Given the description of an element on the screen output the (x, y) to click on. 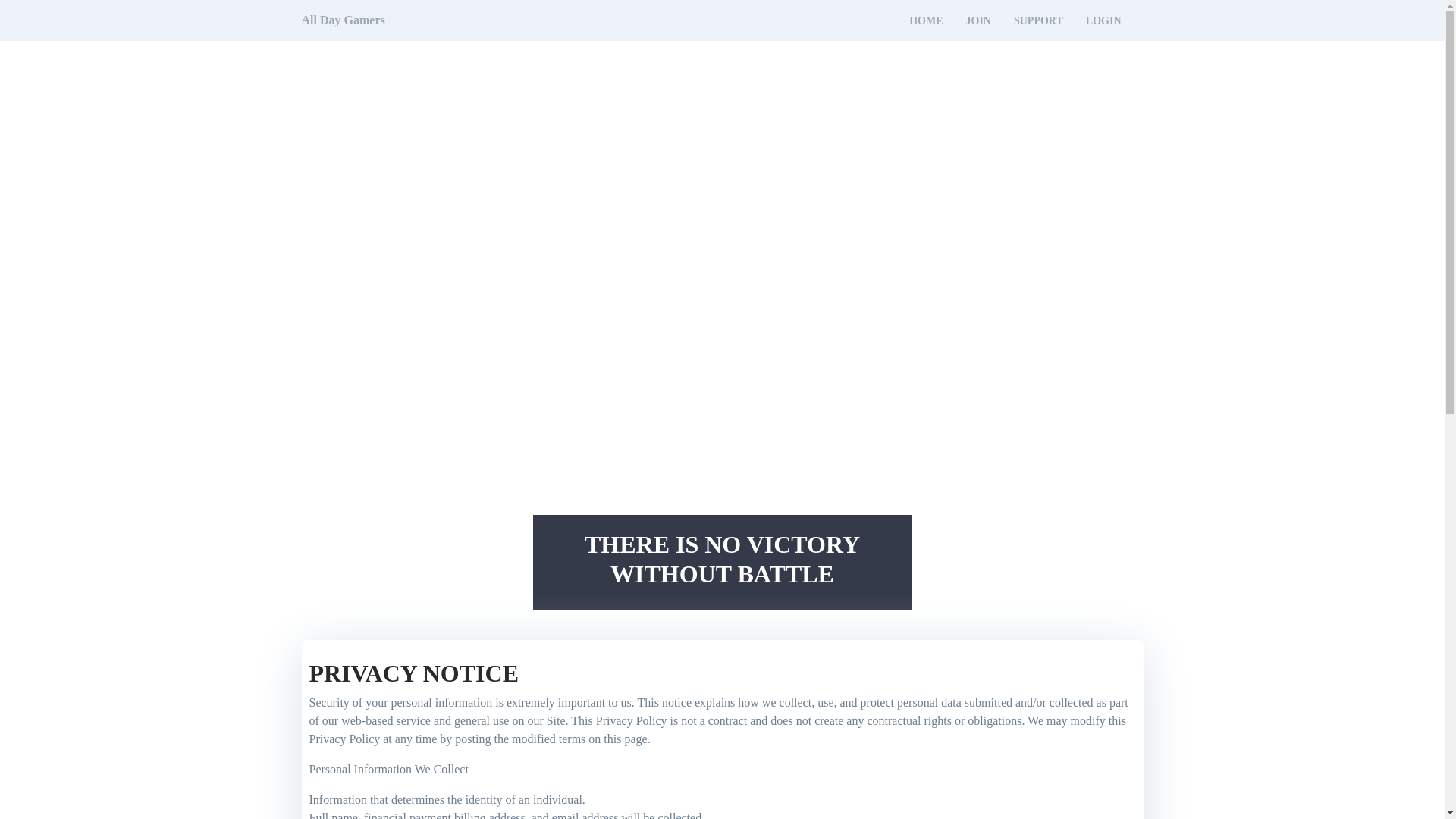
HOME (925, 20)
LOGO (343, 20)
All Day Gamers (343, 20)
JOIN (978, 20)
LOGIN (1103, 20)
SUPPORT (1037, 20)
